Given the description of an element on the screen output the (x, y) to click on. 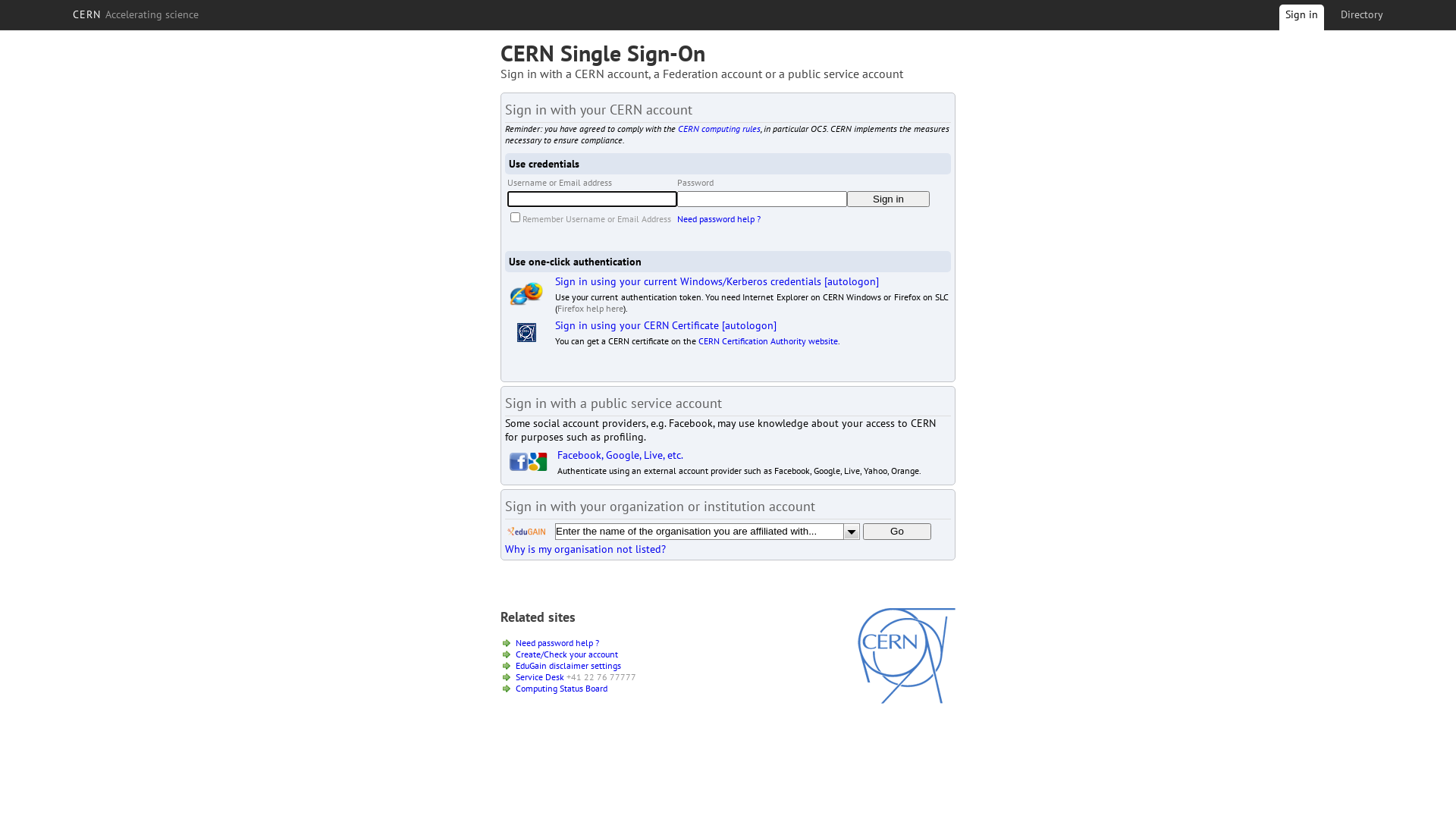
CERN computing rules Element type: text (718, 128)
Directory Element type: text (1361, 14)
Sign in using your current Windows/Kerberos credentials Element type: text (688, 281)
Service Desk Element type: text (539, 676)
CERN Single Sign-On Element type: text (602, 52)
Need password help ? Element type: text (557, 642)
Create/Check your account Element type: text (566, 653)
Facebook, Google, Live, etc. Element type: text (620, 454)
Sign in using your CERN Certificate Element type: text (636, 325)
EduGain disclaimer settings Element type: text (568, 665)
[show debug information] Element type: text (549, 565)
[autologon] Element type: text (748, 325)
Sign in Element type: text (888, 199)
[autologon] Element type: text (851, 281)
Need password help ? Element type: text (718, 218)
Firefox help here Element type: text (590, 307)
CERN Element type: hover (906, 699)
CERN Certification Authority website Element type: text (767, 340)
Why is my organisation not listed? Element type: text (585, 548)
Computing Status Board Element type: text (561, 687)
Go Element type: text (896, 531)
CERN Accelerating science Element type: text (135, 14)
Enter your Username or Email Address Element type: hover (592, 199)
Sign in Element type: text (1301, 19)
